Given the description of an element on the screen output the (x, y) to click on. 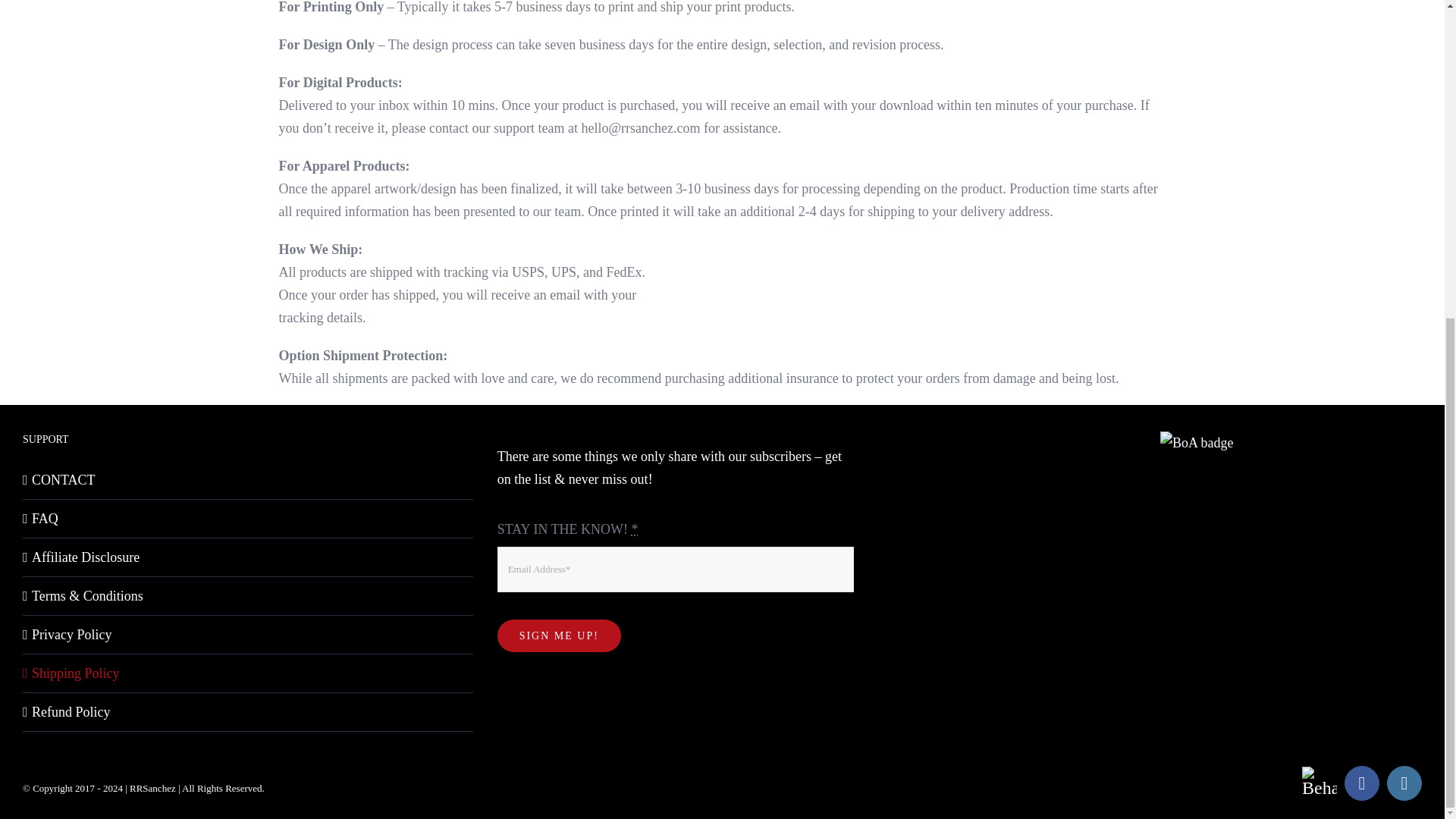
Facebook (1360, 782)
Behance (1318, 784)
Affiliate Disclosure (248, 557)
Behance (1318, 784)
Privacy Policy (248, 634)
SIGN ME UP! (559, 635)
Shipping Policy (248, 672)
Instagram (1404, 782)
Instagram (1404, 782)
CONTACT (248, 479)
